Given the description of an element on the screen output the (x, y) to click on. 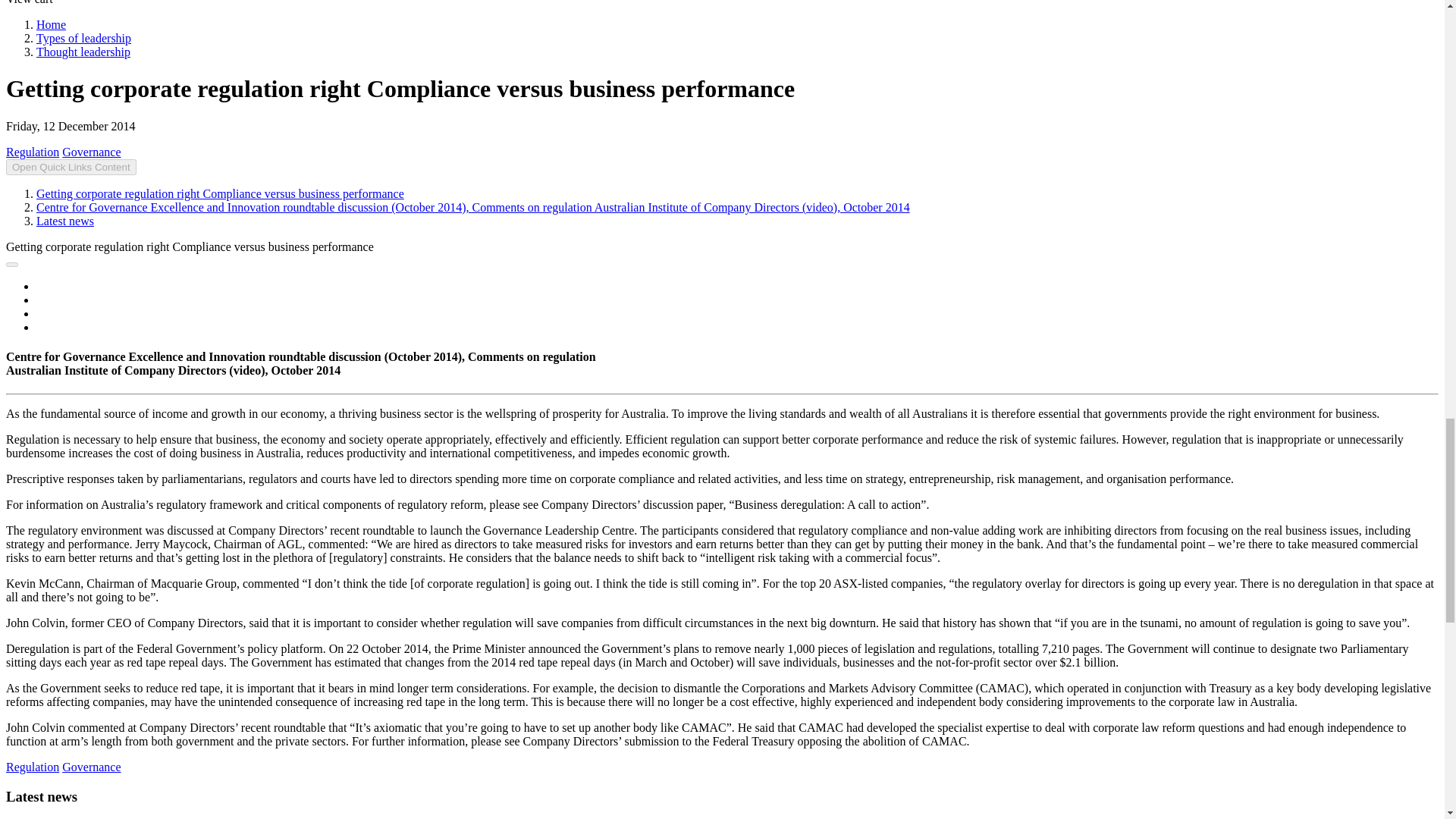
social share icons (11, 264)
